Given the description of an element on the screen output the (x, y) to click on. 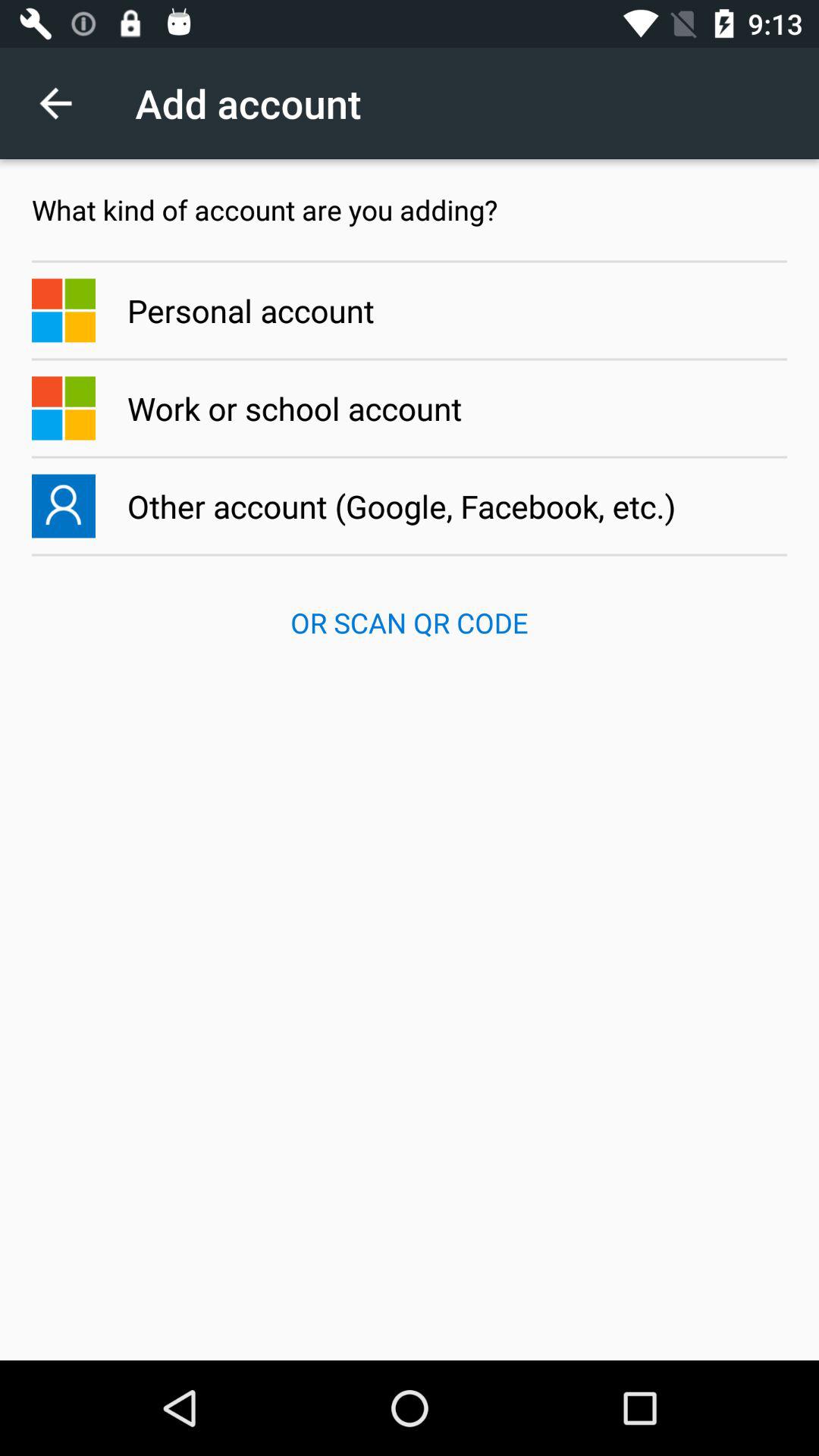
scroll to personal account (409, 310)
